Given the description of an element on the screen output the (x, y) to click on. 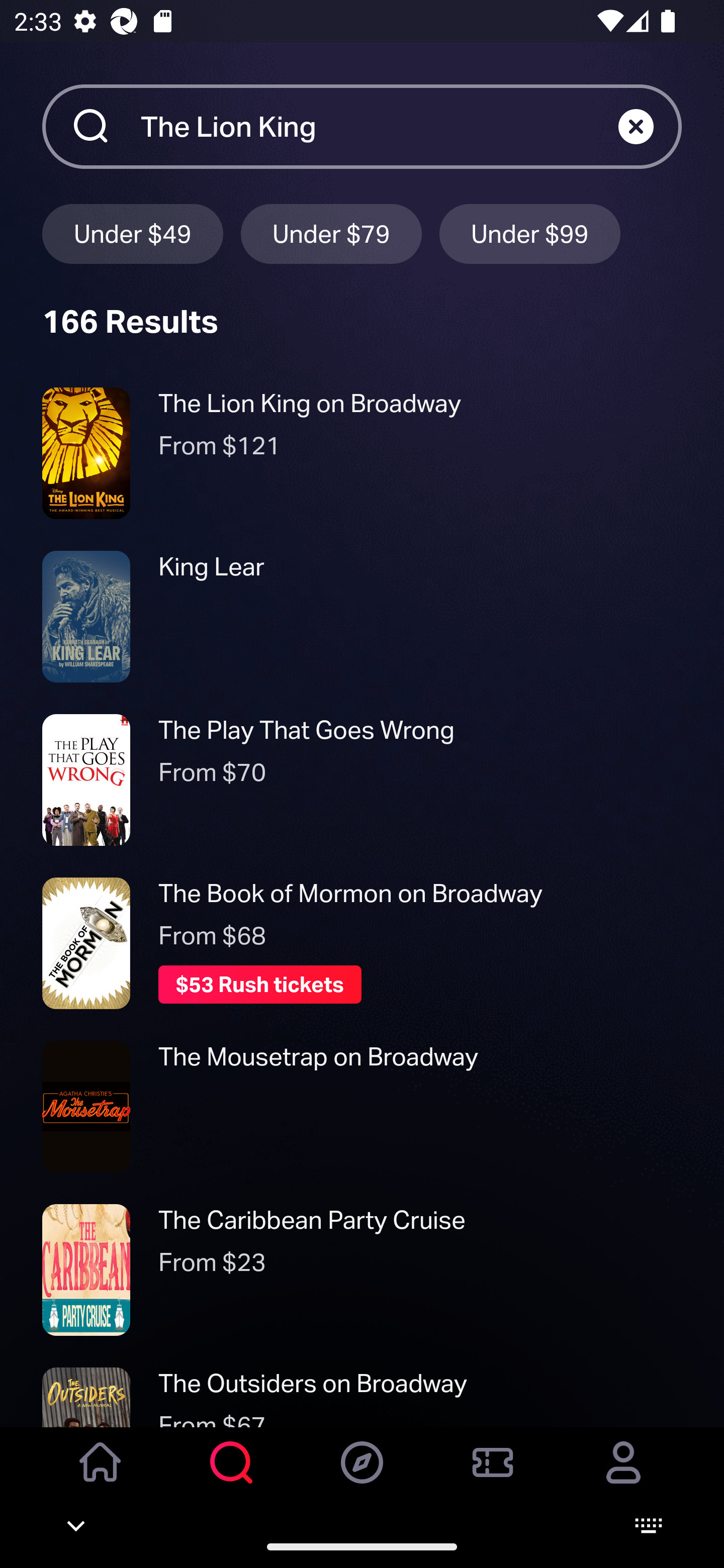
The Lion King (379, 126)
Under $49 (131, 233)
Under $79 (331, 233)
Under $99 (529, 233)
King Lear  King Lear (361, 616)
Home (100, 1475)
Discover (361, 1475)
Orders (492, 1475)
Account (623, 1475)
